Given the description of an element on the screen output the (x, y) to click on. 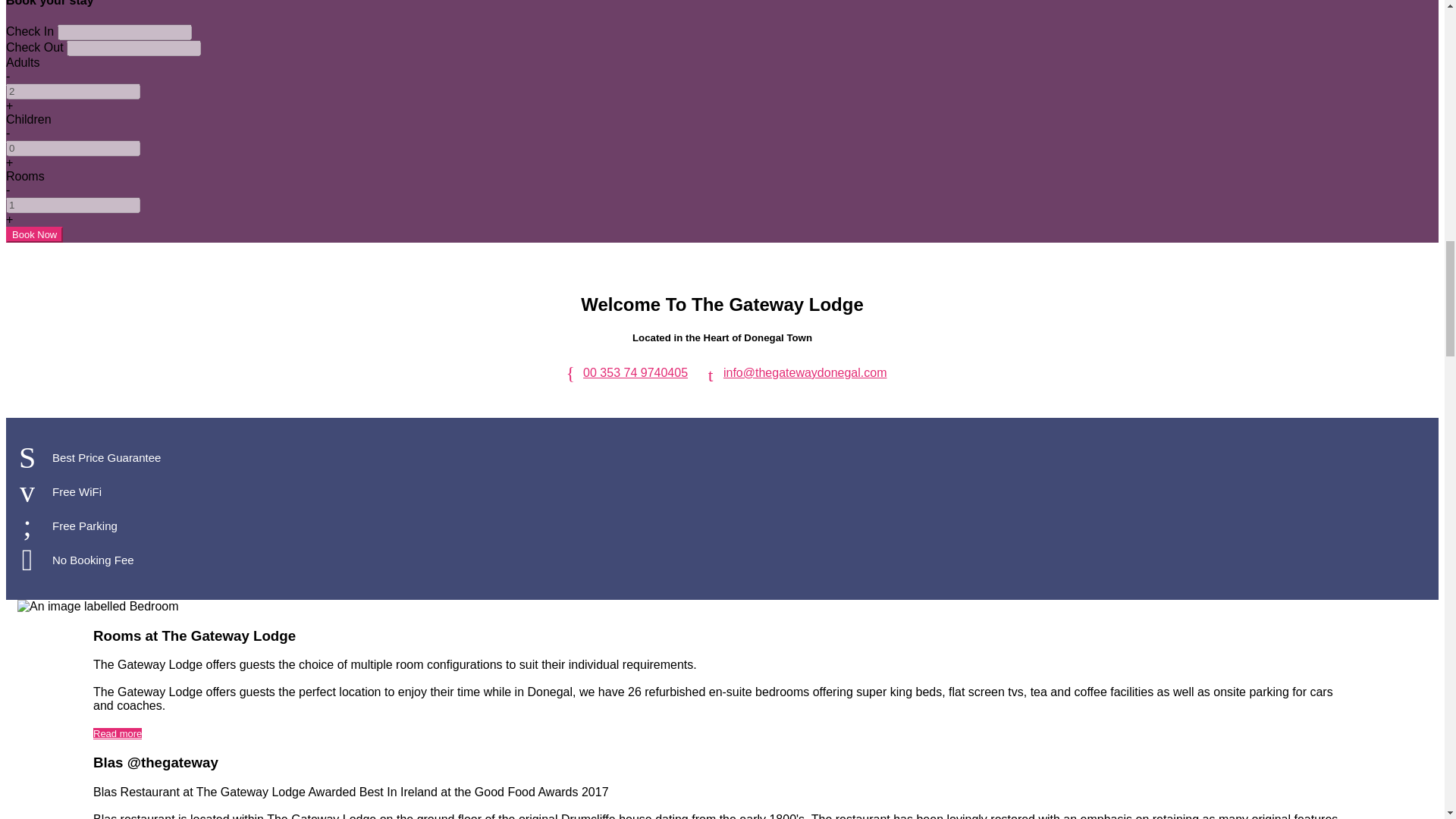
0 (72, 148)
2 (72, 91)
Book Now (33, 234)
1 (72, 204)
